Given the description of an element on the screen output the (x, y) to click on. 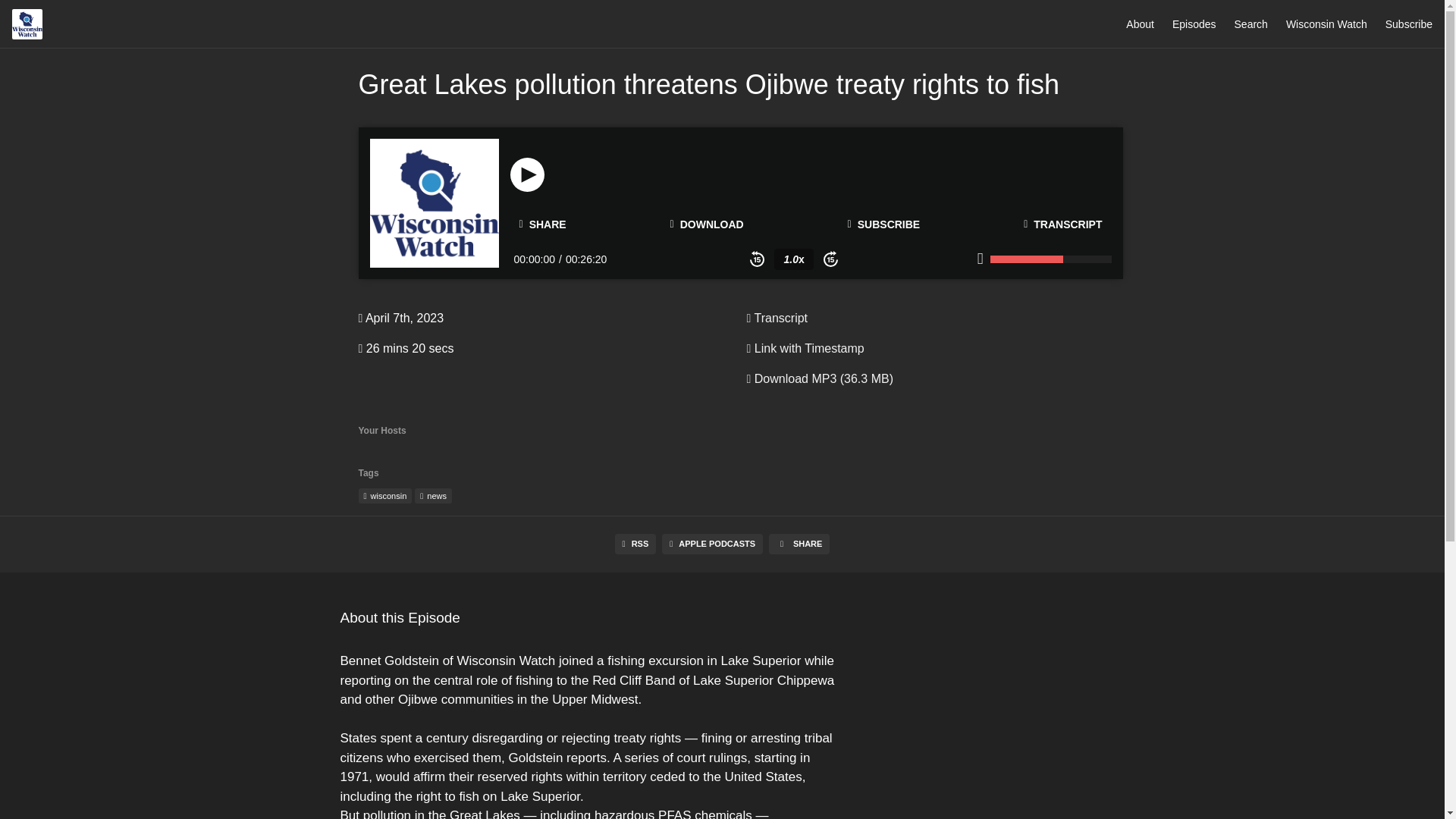
RSS (635, 543)
wisconsin (385, 495)
SUBSCRIBE (884, 224)
SHARE (798, 543)
Transcript (776, 318)
About (1139, 24)
news (432, 495)
APPLE PODCASTS (712, 543)
DOWNLOAD (706, 224)
Search (1251, 24)
Subscribe (1409, 24)
SHARE (542, 224)
Wisconsin Watch (1326, 24)
TRANSCRIPT (1062, 224)
Episodes (1193, 24)
